Given the description of an element on the screen output the (x, y) to click on. 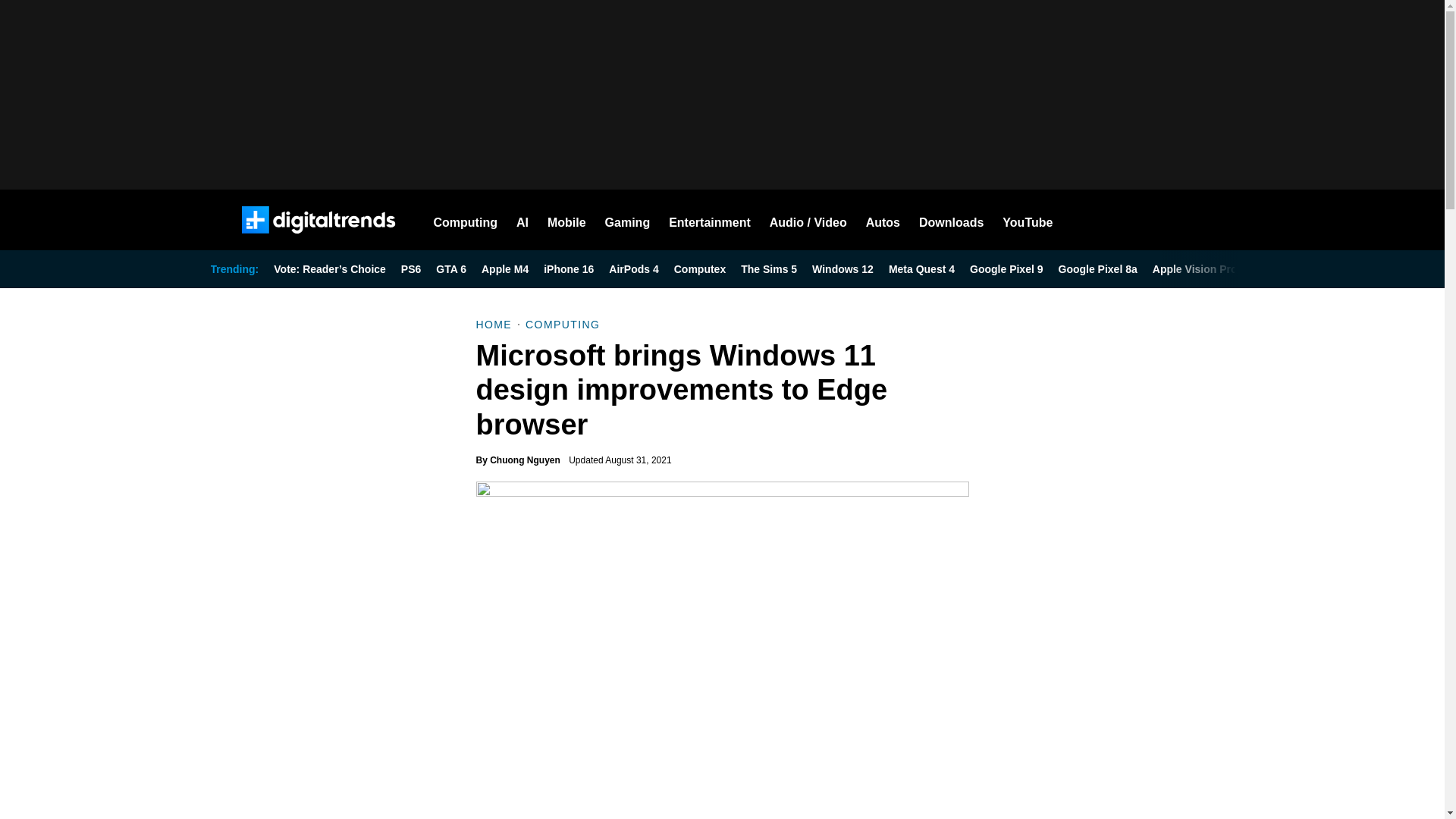
Computing (465, 219)
Downloads (951, 219)
Entertainment (709, 219)
